Given the description of an element on the screen output the (x, y) to click on. 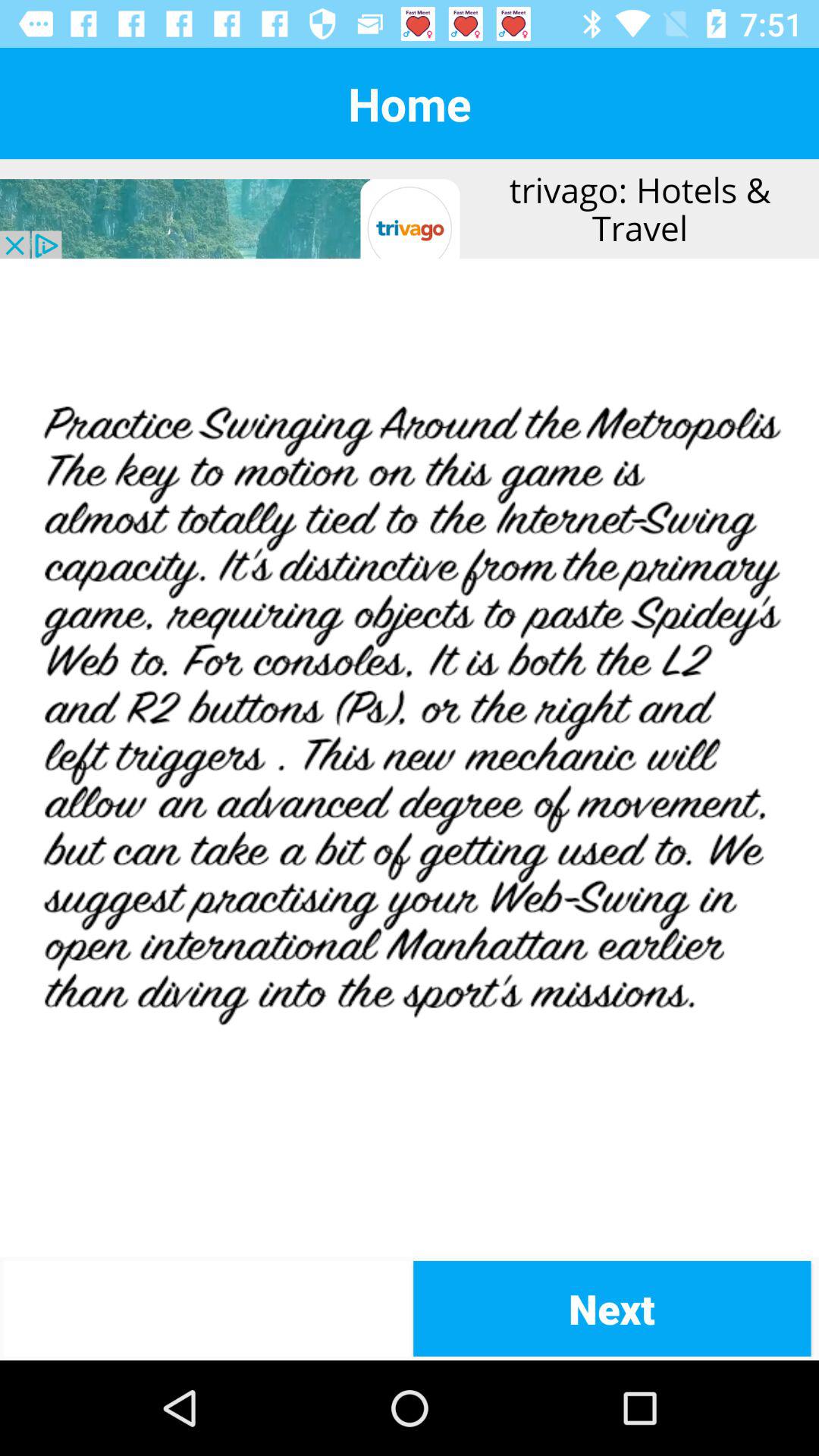
article in middle (409, 757)
